Given the description of an element on the screen output the (x, y) to click on. 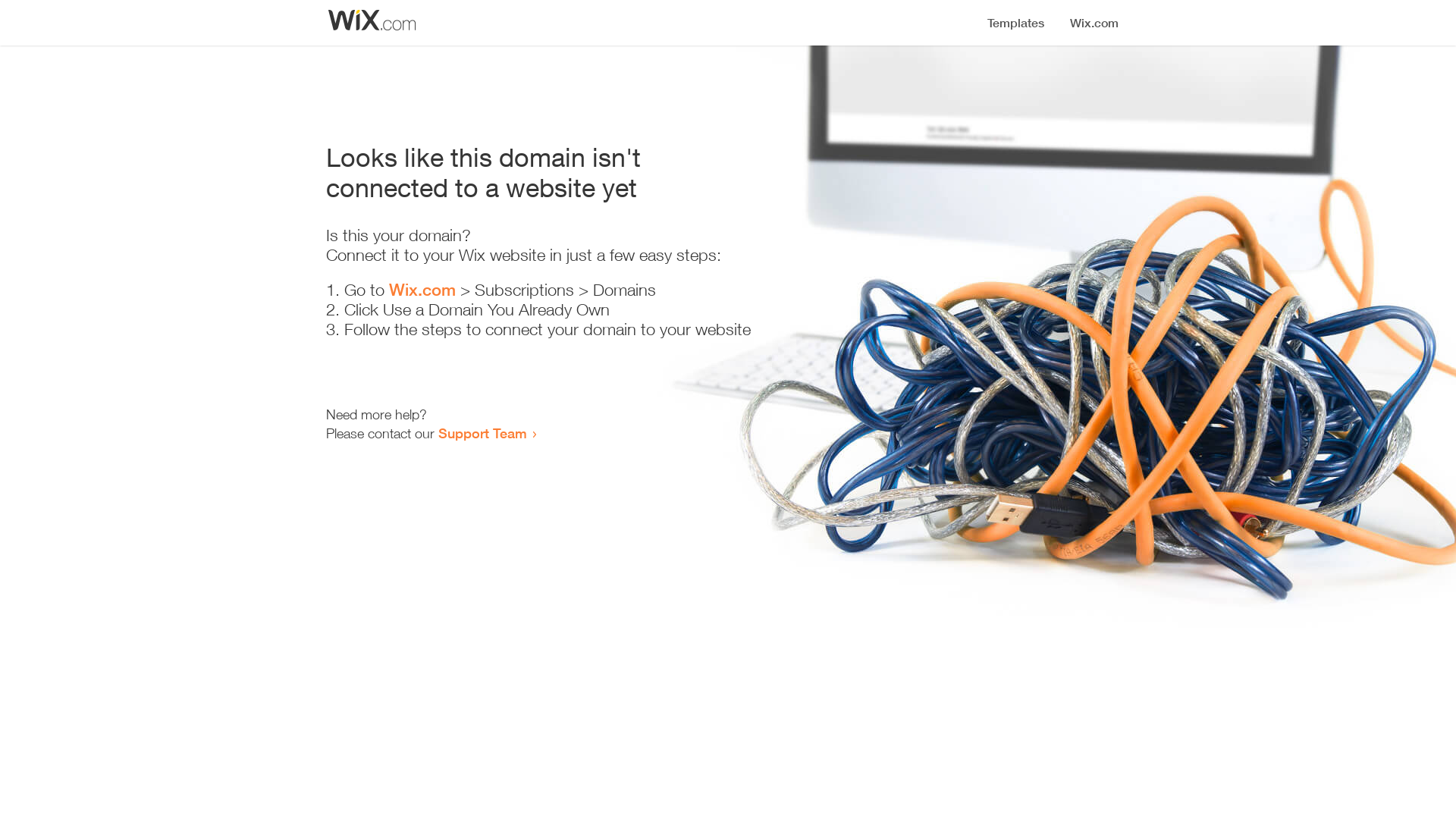
Support Team Element type: text (482, 432)
Wix.com Element type: text (422, 289)
